Given the description of an element on the screen output the (x, y) to click on. 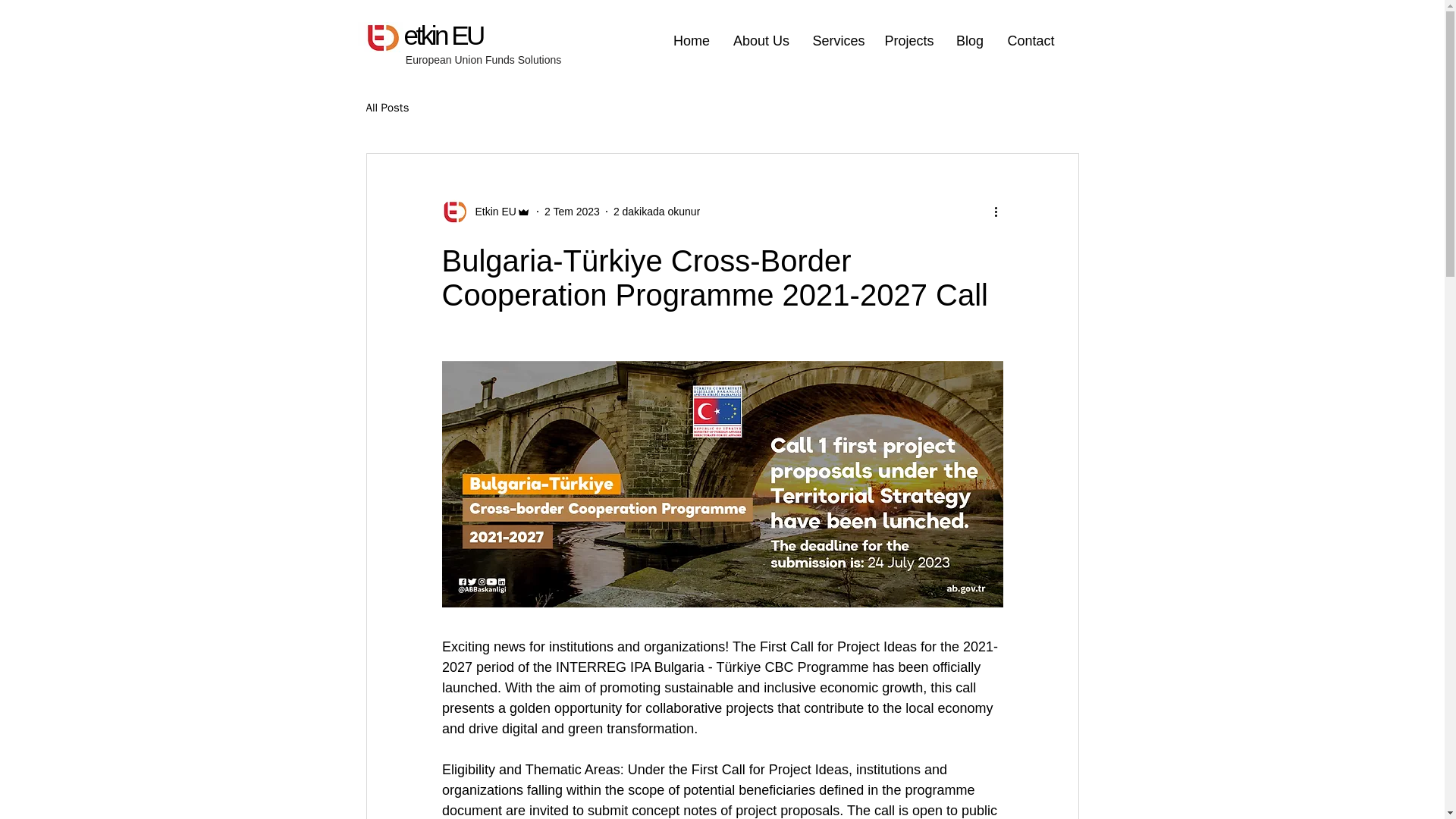
All Posts (387, 106)
About Us (762, 40)
European Union Funds Solutions  (485, 60)
Etkin EU (485, 211)
2 Tem 2023 (571, 210)
Projects (908, 40)
Contact (1029, 40)
2 dakikada okunur (656, 210)
etkin EU (442, 34)
Home (690, 40)
Etkin EU (490, 211)
Blog (969, 40)
